Given the description of an element on the screen output the (x, y) to click on. 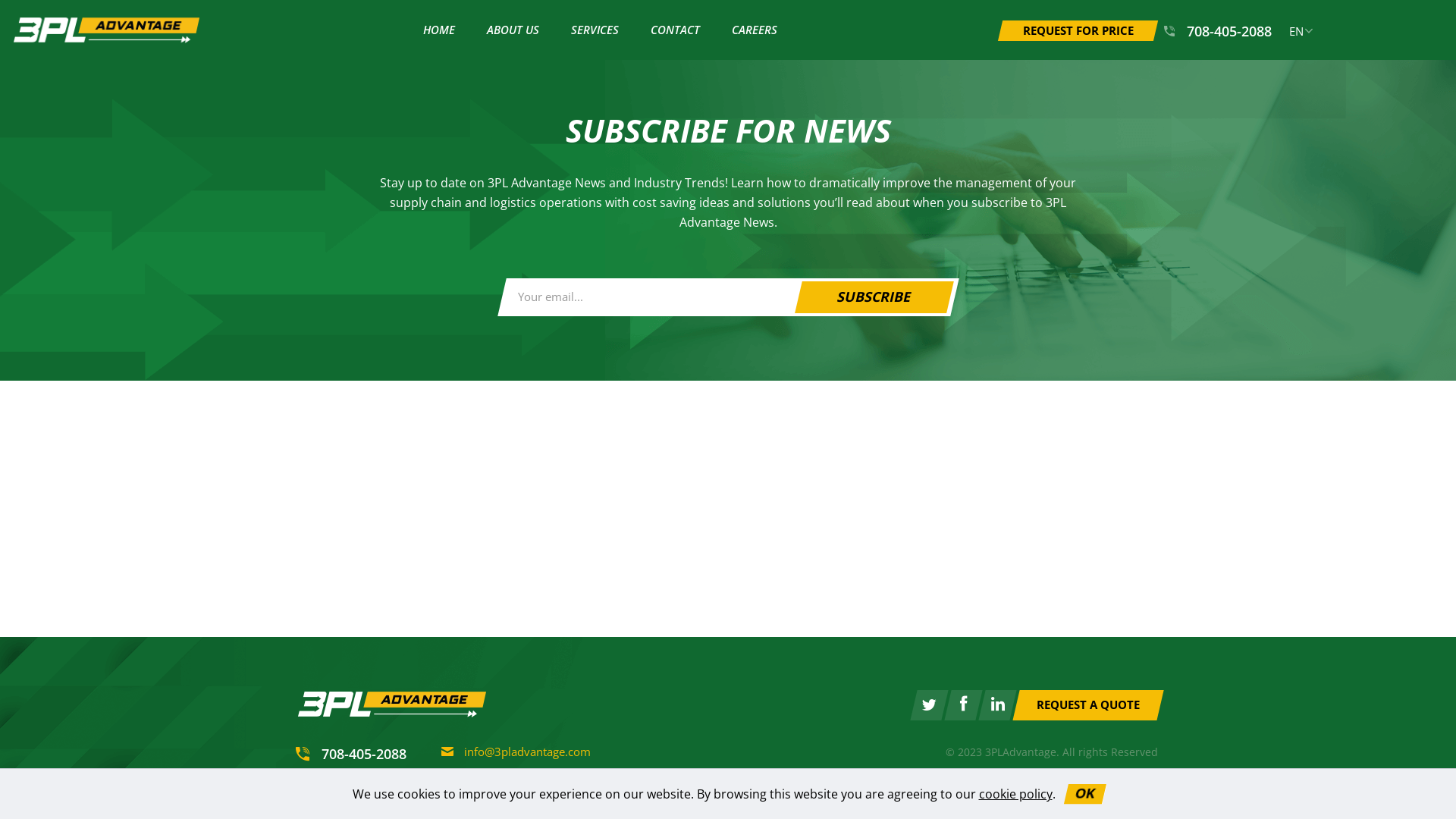
info@3pladvantage.com Element type: text (515, 751)
SERVICES Element type: text (594, 29)
HOME Element type: text (438, 29)
CONTACT Element type: text (675, 29)
EN Element type: text (1300, 31)
708-405-2088 Element type: text (350, 753)
REQUEST A QUOTE Element type: text (1084, 705)
Subscribe Element type: text (870, 297)
cookie policy Element type: text (1014, 793)
CAREERS Element type: text (754, 29)
OK Element type: text (1082, 793)
ABOUT US Element type: text (512, 29)
REQUEST FOR PRICE Element type: text (1075, 30)
708-405-2088 Element type: text (1217, 30)
